Given the description of an element on the screen output the (x, y) to click on. 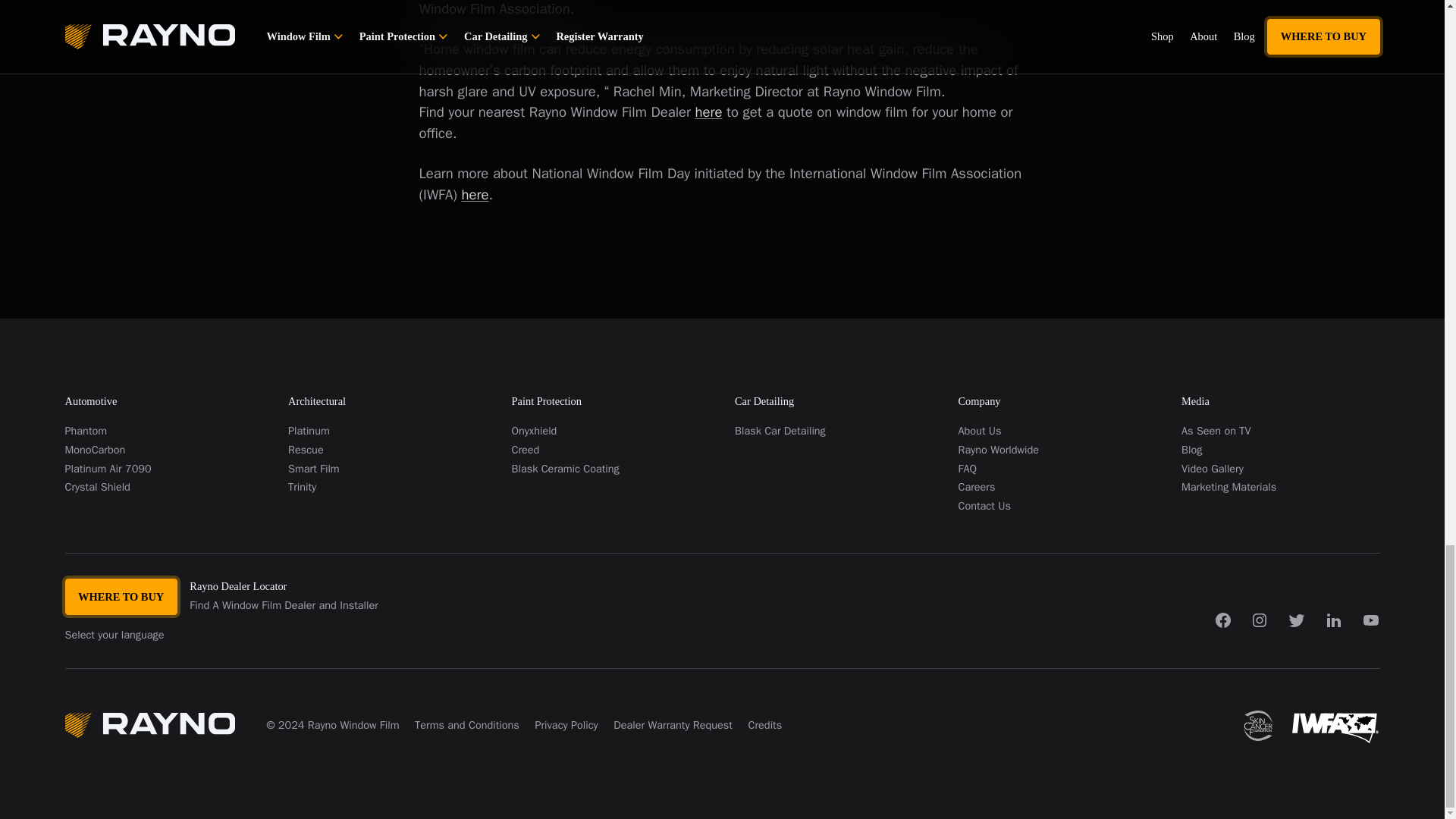
Platinum (387, 430)
Phantom (164, 430)
Platinum Air 7090 (164, 468)
MonoCarbon (164, 449)
Crystal Shield (164, 486)
